Given the description of an element on the screen output the (x, y) to click on. 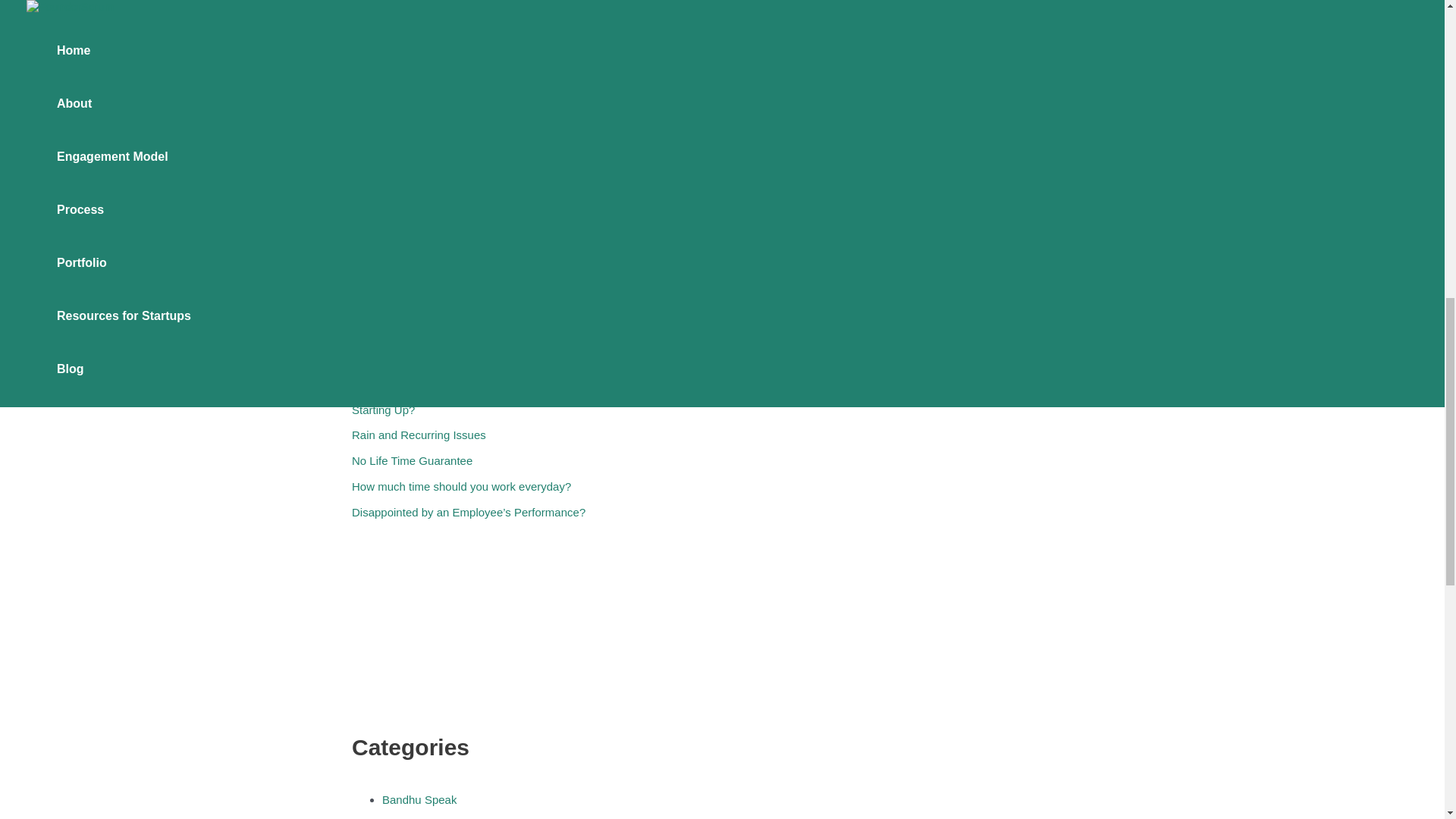
How much time should you work everyday? (461, 486)
Bandhu Speak (419, 799)
No Life Time Guarantee (411, 460)
Rain and Recurring Issues (419, 434)
Search (598, 226)
